Given the description of an element on the screen output the (x, y) to click on. 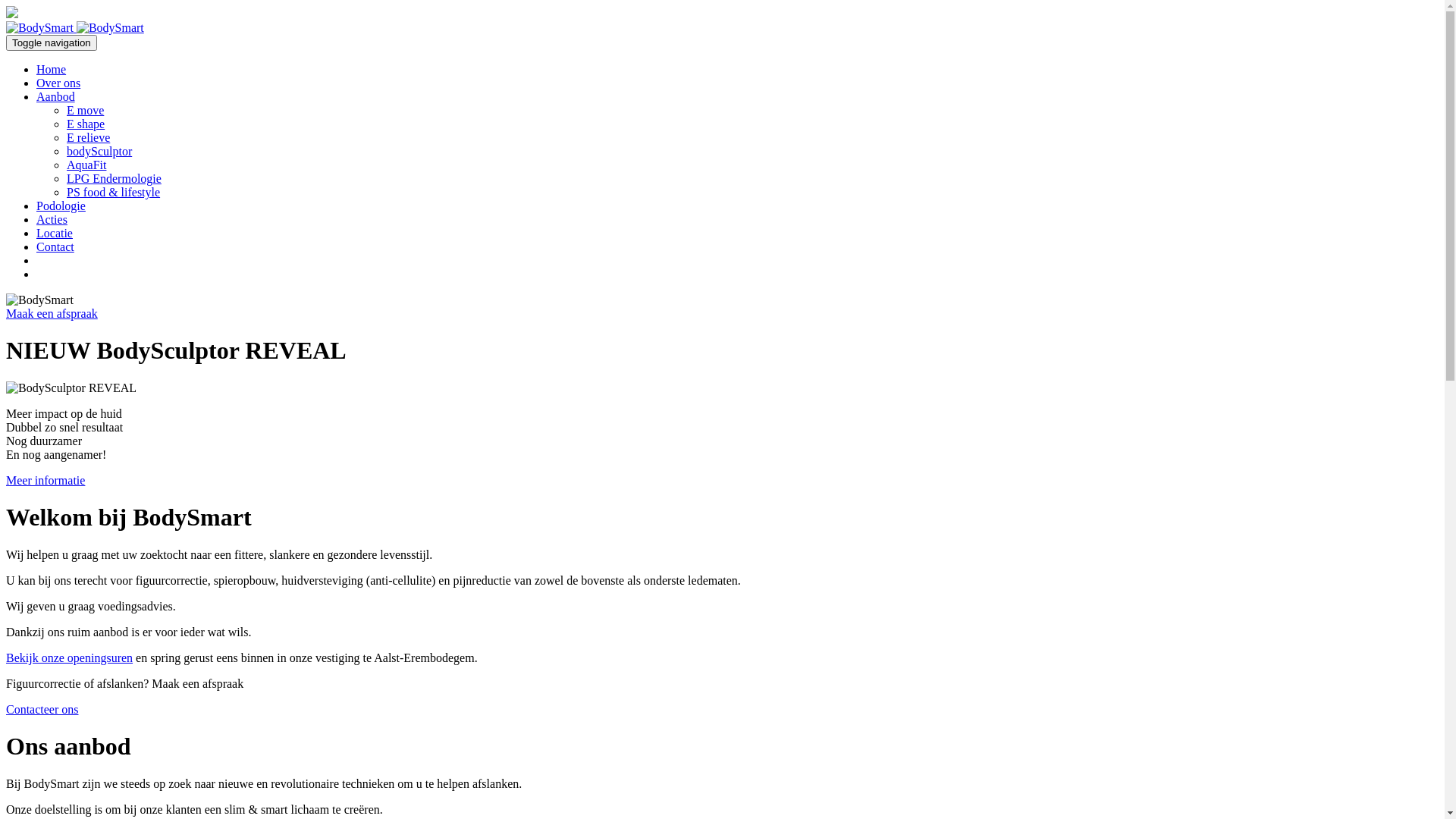
Podologie Element type: text (60, 205)
Locatie Element type: text (54, 232)
Meer informatie Element type: text (45, 479)
Acties Element type: text (51, 219)
Toggle navigation Element type: text (51, 42)
Bekijk onze openingsuren Element type: text (69, 657)
Maak een afspraak Element type: text (51, 313)
Aanbod Element type: text (55, 96)
Contacteer ons Element type: text (42, 708)
PS food & lifestyle Element type: text (113, 191)
LPG Endermologie Element type: text (113, 178)
Contact Element type: text (55, 246)
E move Element type: text (84, 109)
E shape Element type: text (85, 123)
bodySculptor Element type: text (98, 150)
Home Element type: text (50, 68)
E relieve Element type: text (87, 137)
AquaFit Element type: text (86, 164)
Over ons Element type: text (58, 82)
